Given the description of an element on the screen output the (x, y) to click on. 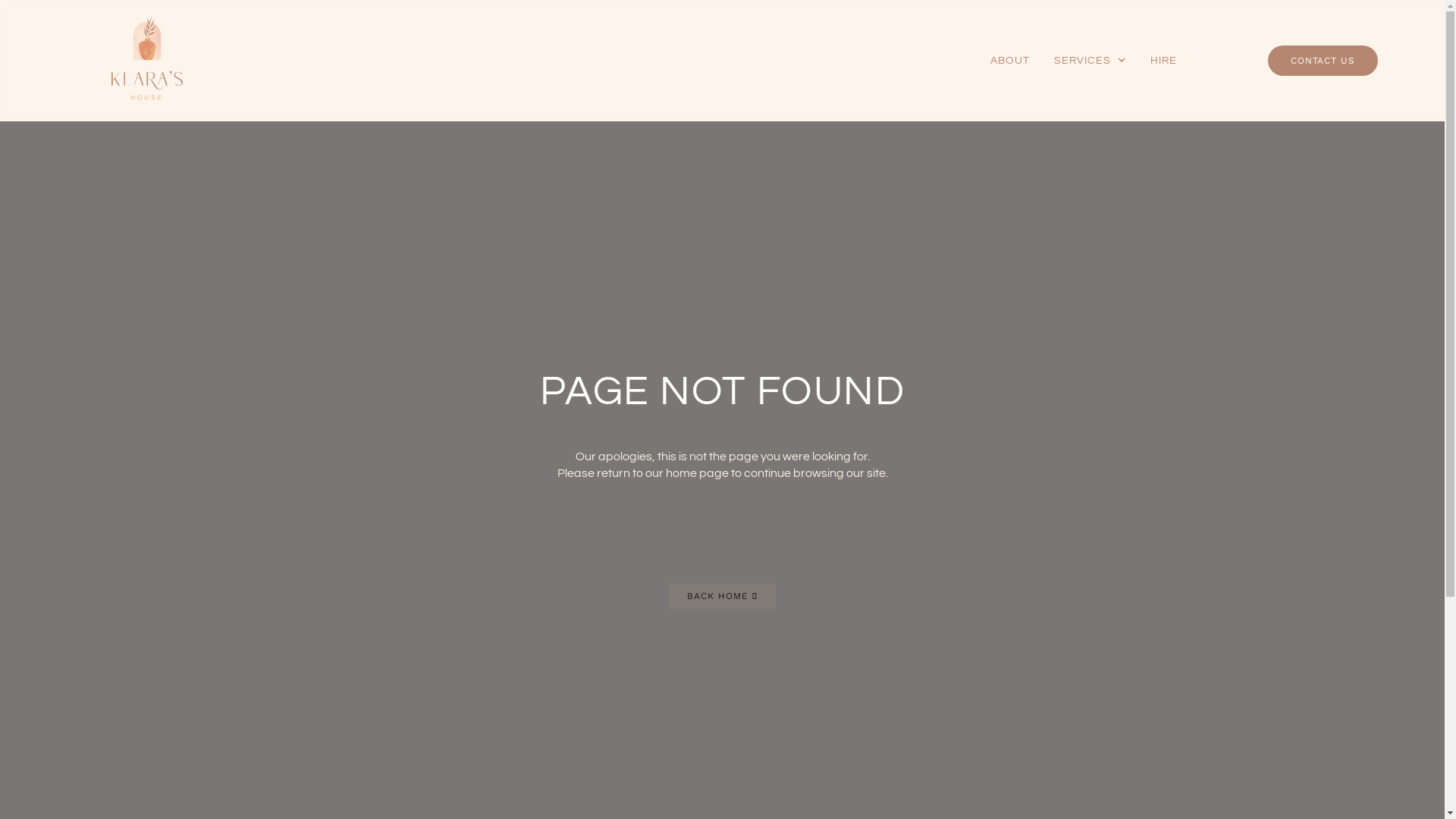
CONTACT US Element type: text (1322, 60)
ABOUT Element type: text (1009, 60)
HIRE Element type: text (1163, 60)
SERVICES Element type: text (1090, 60)
